Given the description of an element on the screen output the (x, y) to click on. 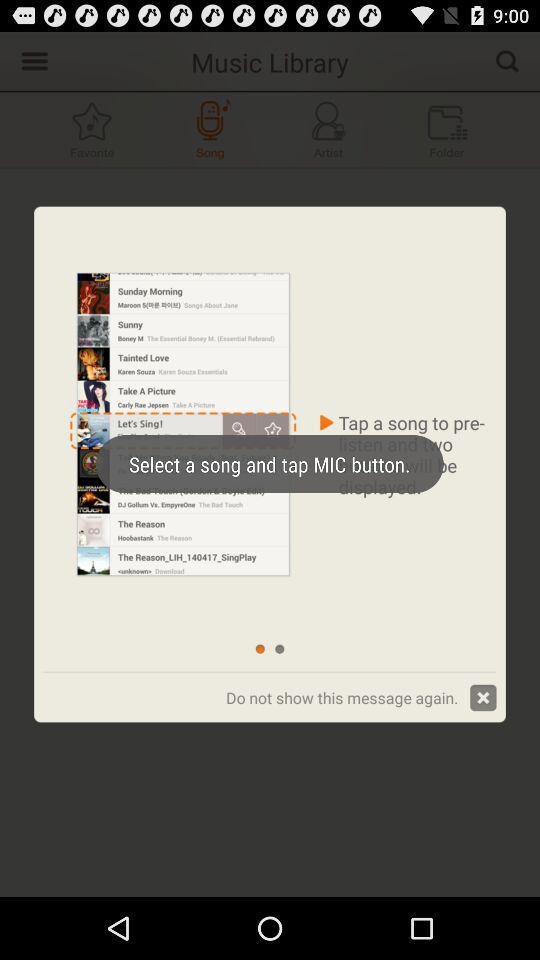
search (507, 60)
